Given the description of an element on the screen output the (x, y) to click on. 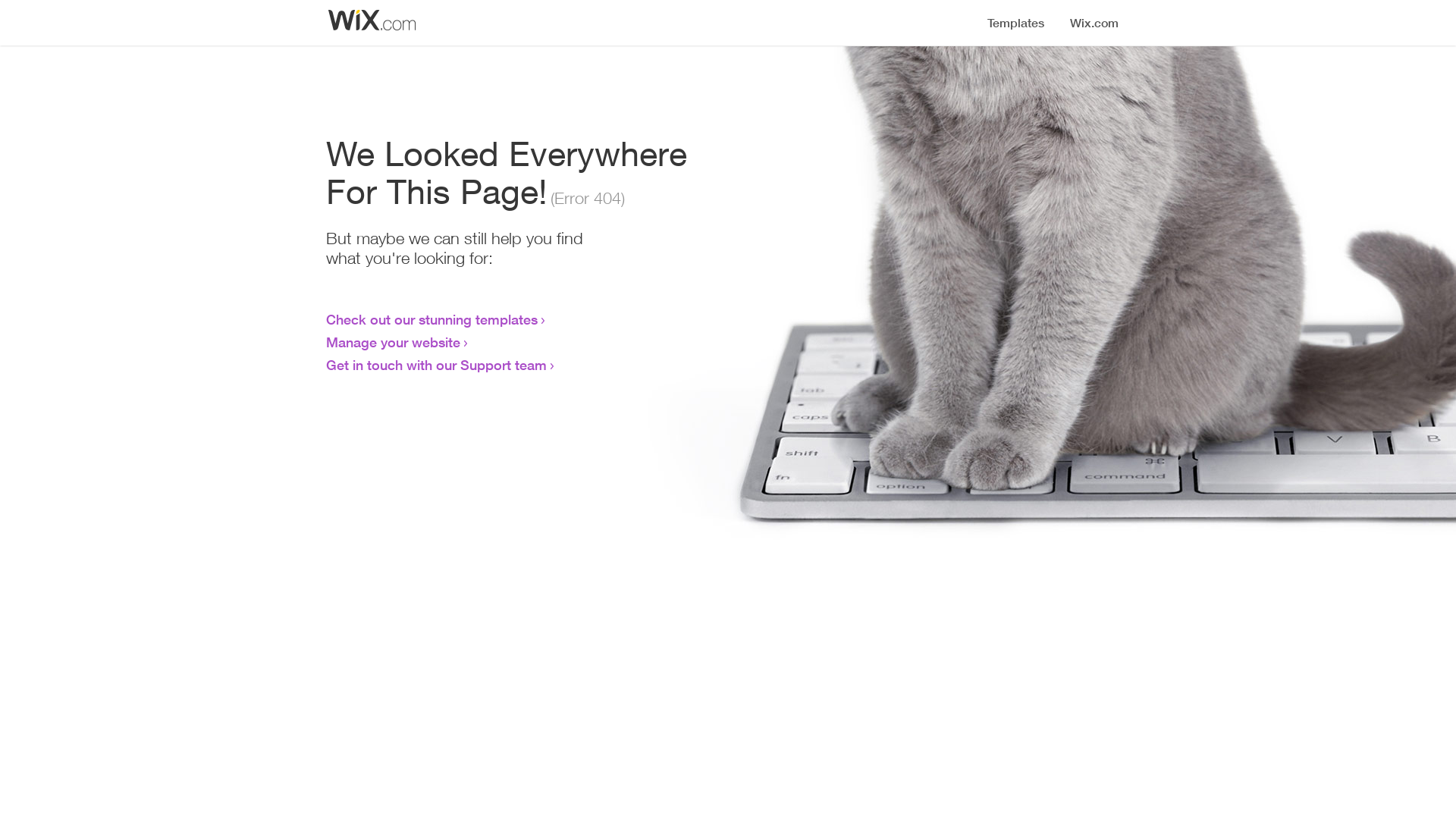
Manage your website Element type: text (393, 341)
Get in touch with our Support team Element type: text (436, 364)
Check out our stunning templates Element type: text (431, 318)
